Given the description of an element on the screen output the (x, y) to click on. 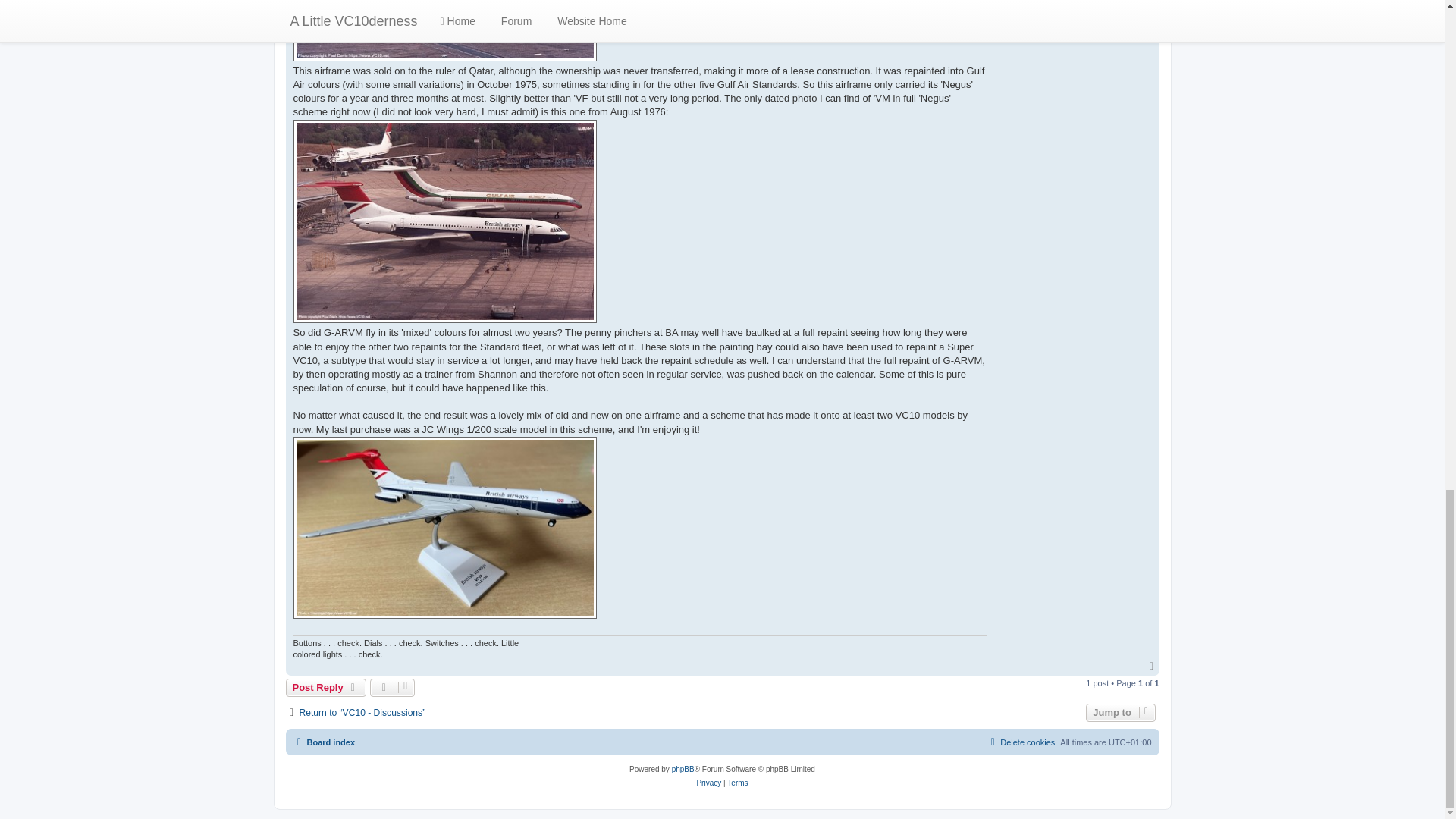
Topic tools (391, 687)
Top (1151, 665)
Top (1151, 665)
Post a reply (325, 687)
Post Reply (325, 687)
